Given the description of an element on the screen output the (x, y) to click on. 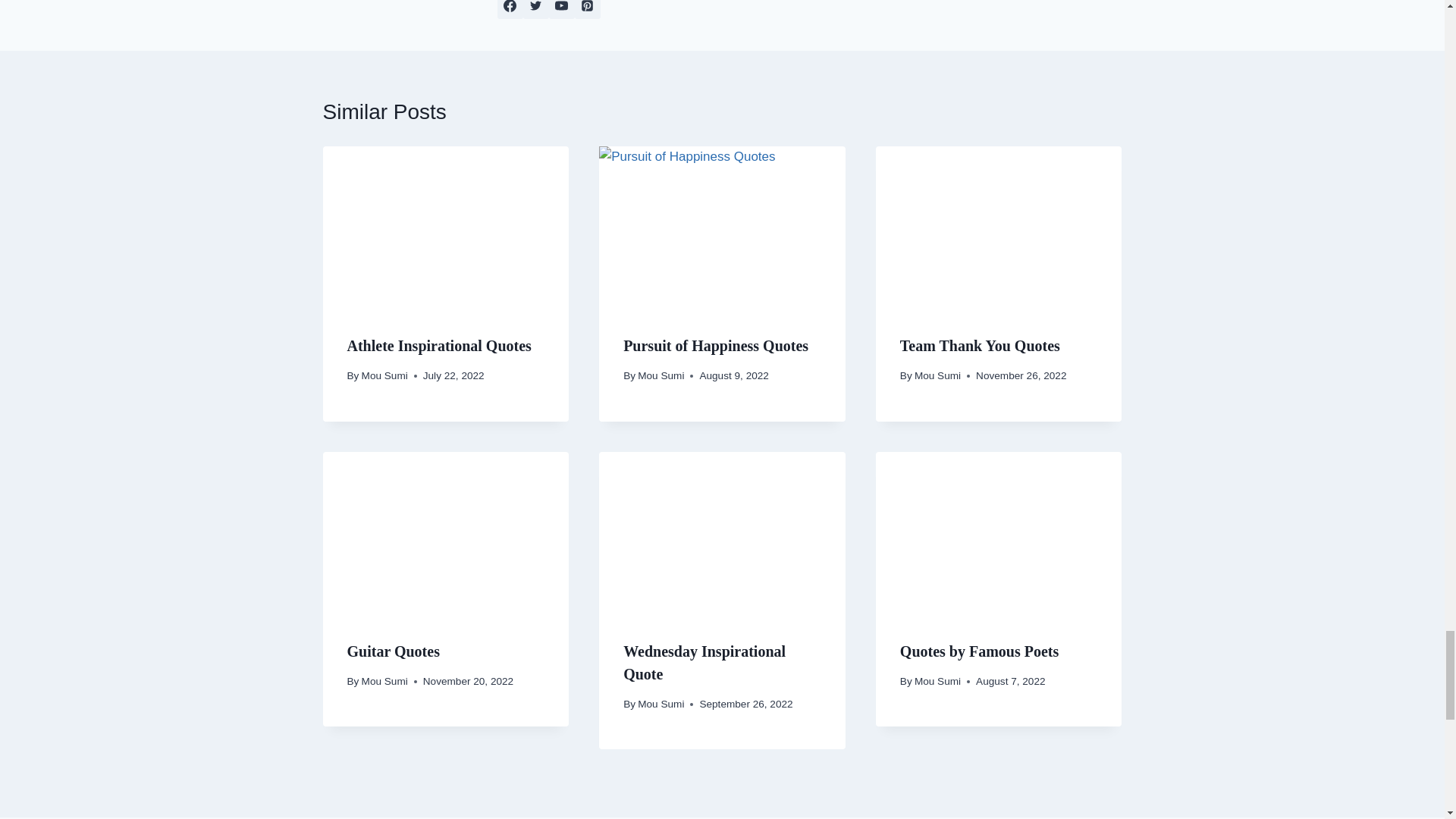
Follow Mou Sumi on Twitter (535, 9)
Athlete Inspirational Quotes (439, 345)
Follow Mou Sumi on Facebook (509, 9)
